Given the description of an element on the screen output the (x, y) to click on. 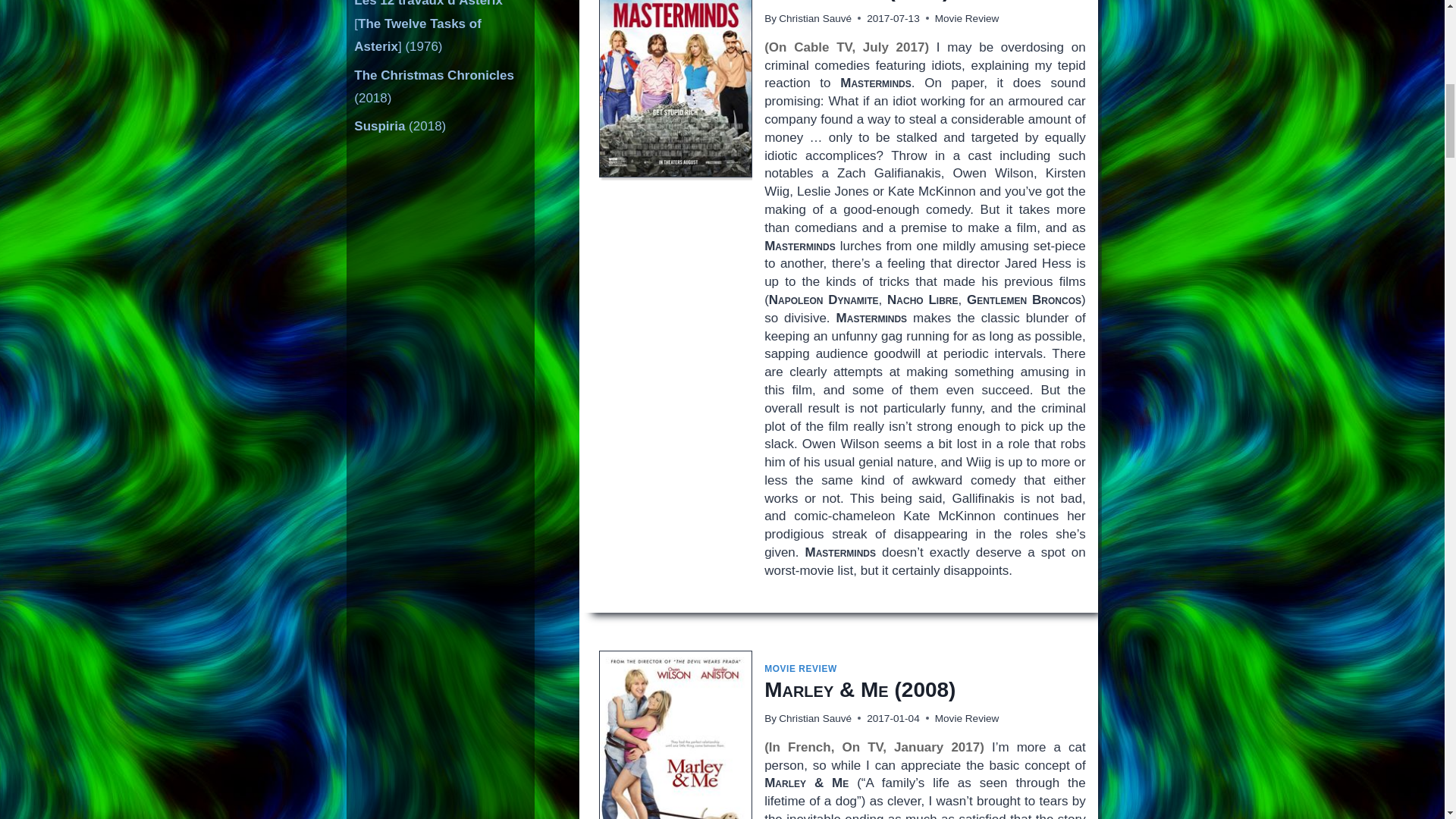
MOVIE REVIEW (800, 668)
Movie Review (966, 18)
Movie Review (966, 717)
